Given the description of an element on the screen output the (x, y) to click on. 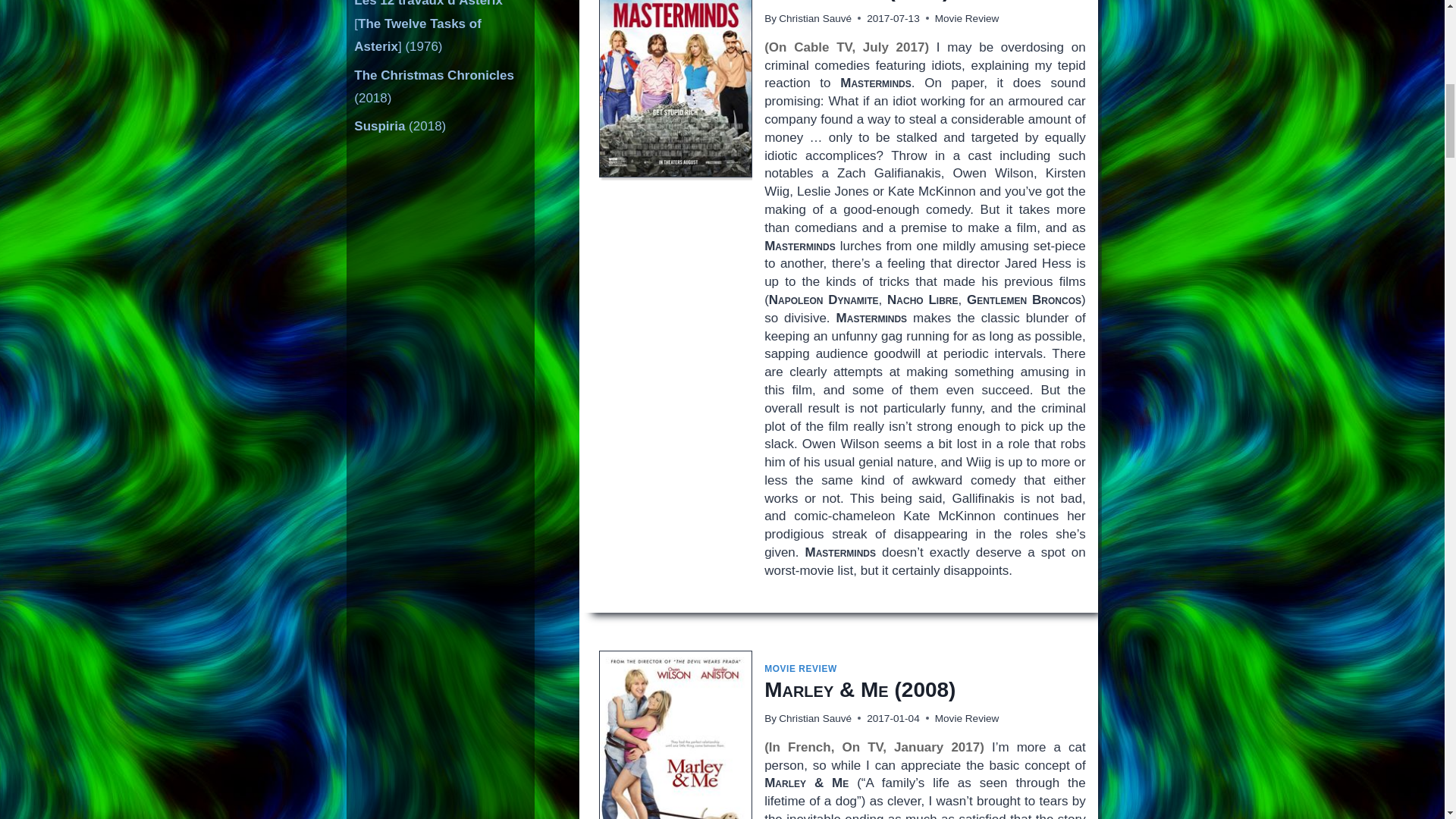
MOVIE REVIEW (800, 668)
Movie Review (966, 18)
Movie Review (966, 717)
